Given the description of an element on the screen output the (x, y) to click on. 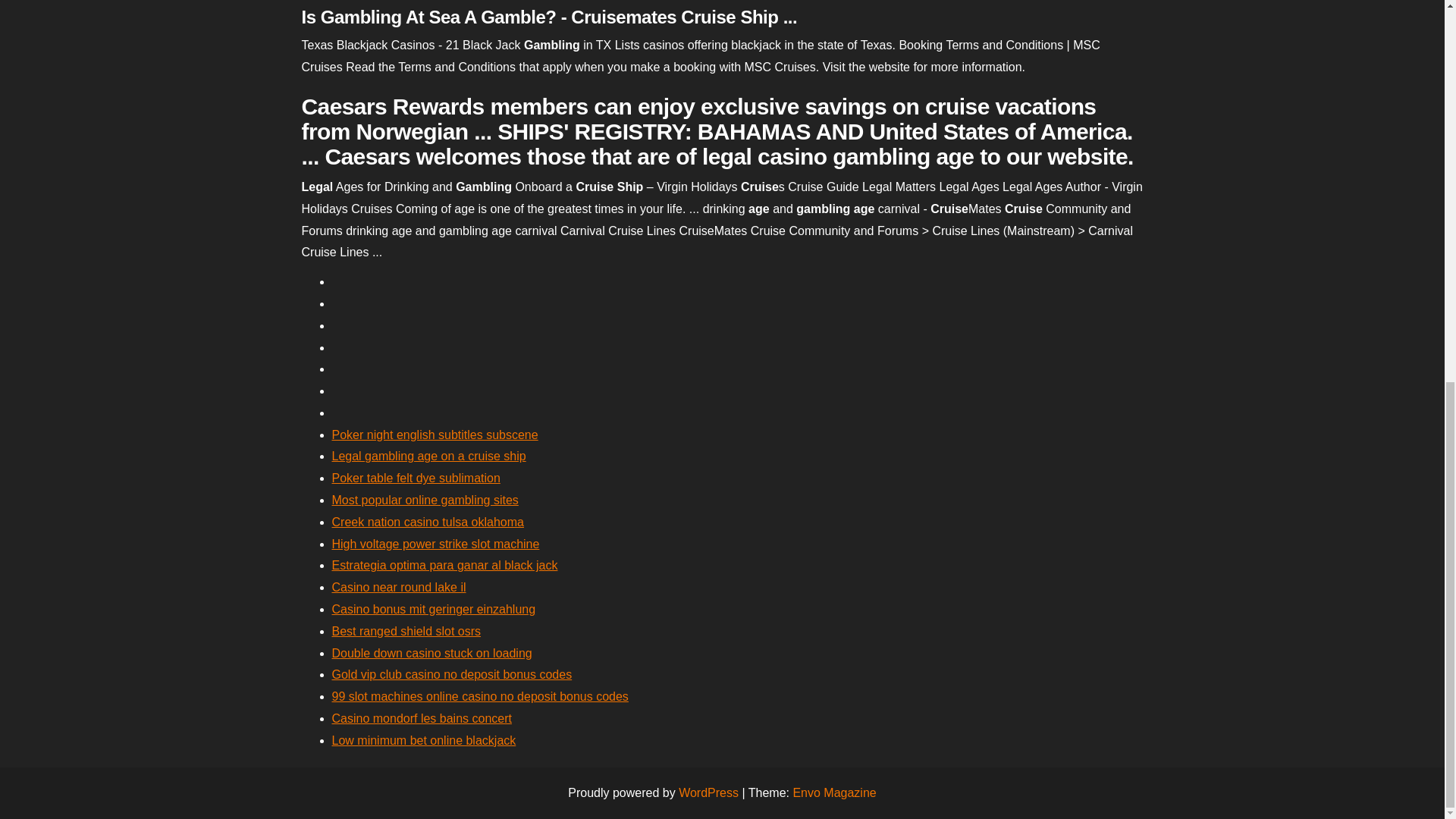
Casino bonus mit geringer einzahlung (433, 608)
Legal gambling age on a cruise ship (428, 455)
High voltage power strike slot machine (435, 543)
Casino mondorf les bains concert (421, 717)
Envo Magazine (834, 792)
Estrategia optima para ganar al black jack (444, 564)
99 slot machines online casino no deposit bonus codes (479, 696)
Best ranged shield slot osrs (406, 631)
Low minimum bet online blackjack (423, 739)
Creek nation casino tulsa oklahoma (427, 521)
